Given the description of an element on the screen output the (x, y) to click on. 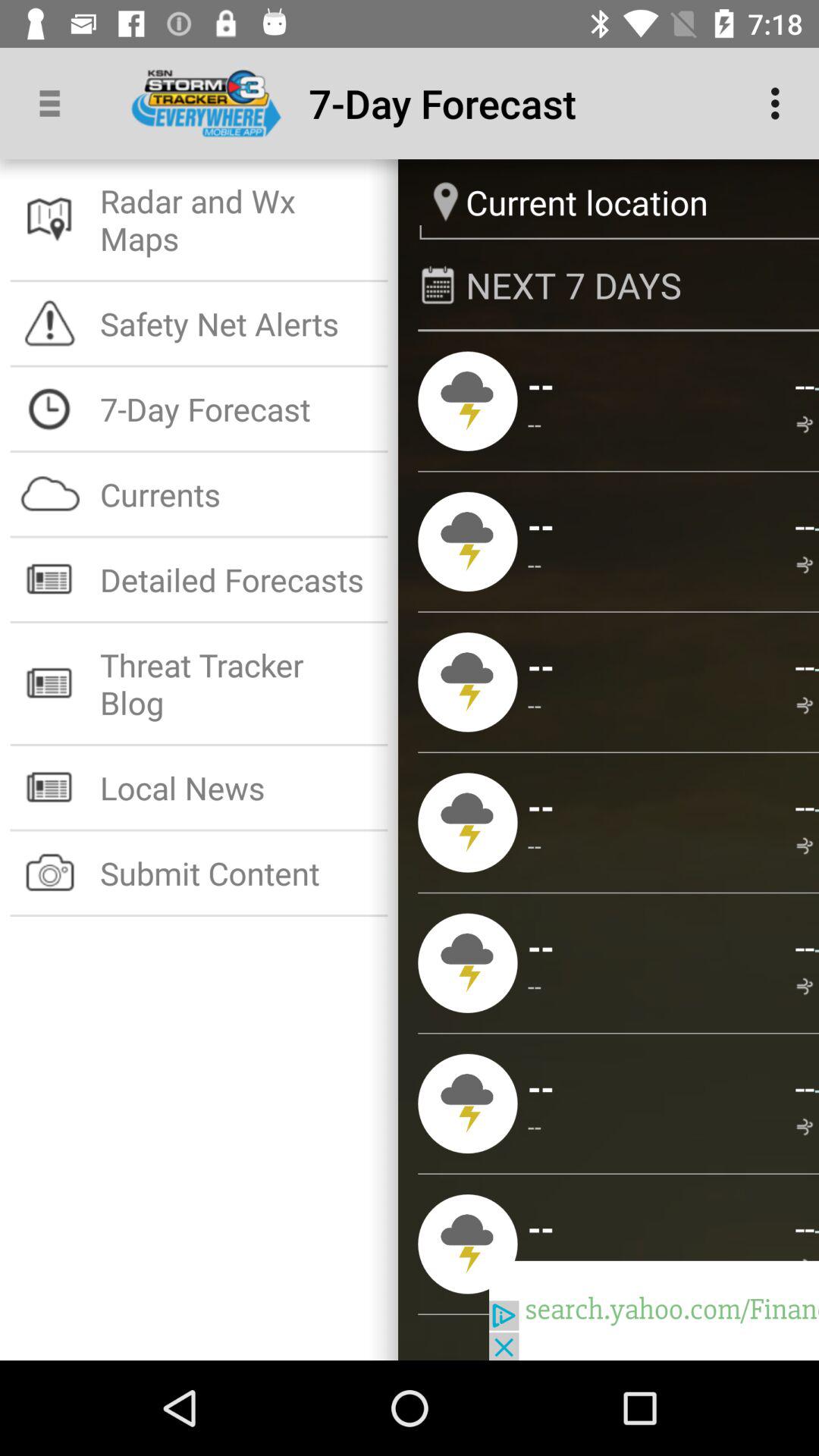
swipe until -- app (534, 423)
